Given the description of an element on the screen output the (x, y) to click on. 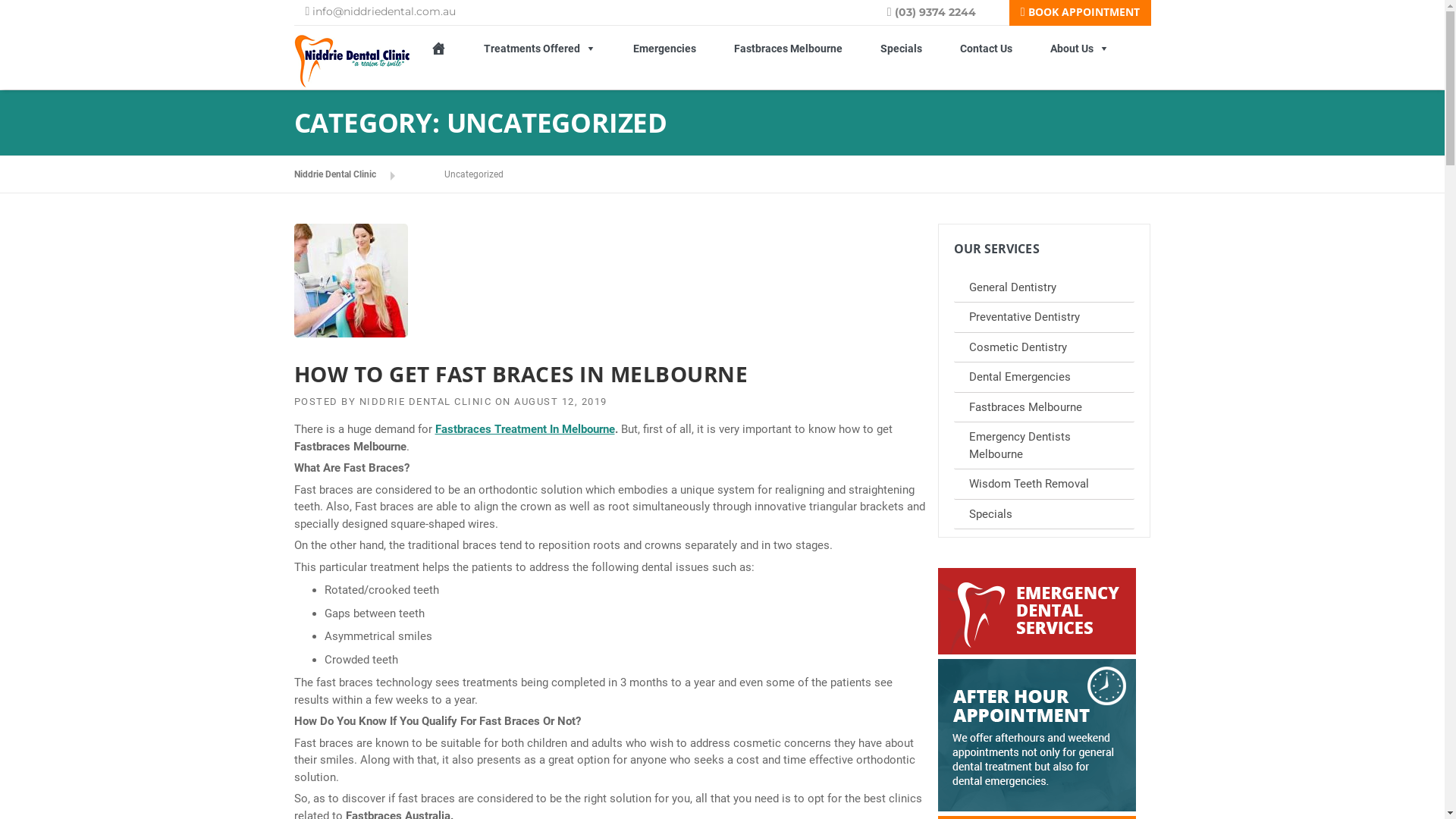
Fastbraces Melbourne Element type: text (1043, 407)
Niddrie Dental Clinic Element type: text (346, 173)
Specials Element type: text (1043, 513)
Preventative Dentistry Element type: text (1043, 317)
Wisdom Teeth Removal Element type: text (1043, 484)
(03) 9374 2244 Element type: text (948, 11)
After hour appointment Element type: hover (1036, 734)
Emergency Dental Services Element type: hover (1036, 610)
info@niddriedental.com.au Element type: text (379, 11)
Cosmetic Dentistry Element type: text (1043, 347)
General Dentistry Element type: text (1043, 288)
Emergencies Element type: text (664, 48)
Niddrie Dental Clinic Element type: hover (352, 61)
AUGUST 12, 2019 Element type: text (560, 401)
Contact Us Element type: text (985, 48)
Dental Emergencies Element type: text (1043, 377)
About Us Element type: text (1079, 48)
Fastbraces Melbourne Element type: text (787, 48)
Emergency Dentists Melbourne Element type: text (1043, 445)
Treatments Offered Element type: text (538, 48)
Niddrie Dental Clinic Element type: hover (352, 60)
Fastbraces Treatment In Melbourne Element type: text (525, 429)
NIDDRIE DENTAL CLINIC Element type: text (425, 401)
HOW TO GET FAST BRACES IN MELBOURNE Element type: text (521, 373)
Specials Element type: text (901, 48)
